Given the description of an element on the screen output the (x, y) to click on. 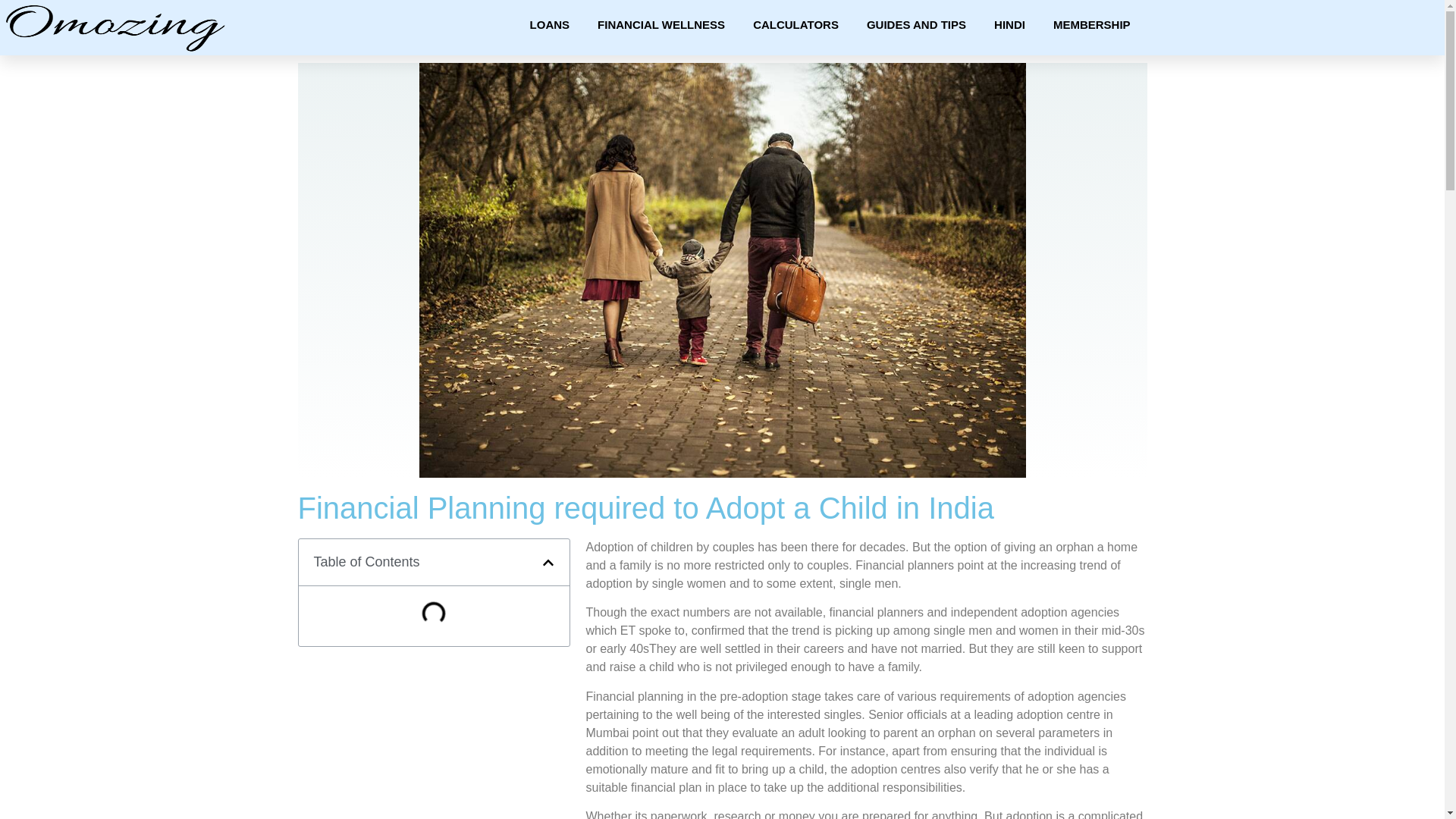
FINANCIAL WELLNESS (660, 24)
CALCULATORS (795, 24)
GUIDES AND TIPS (916, 24)
